Given the description of an element on the screen output the (x, y) to click on. 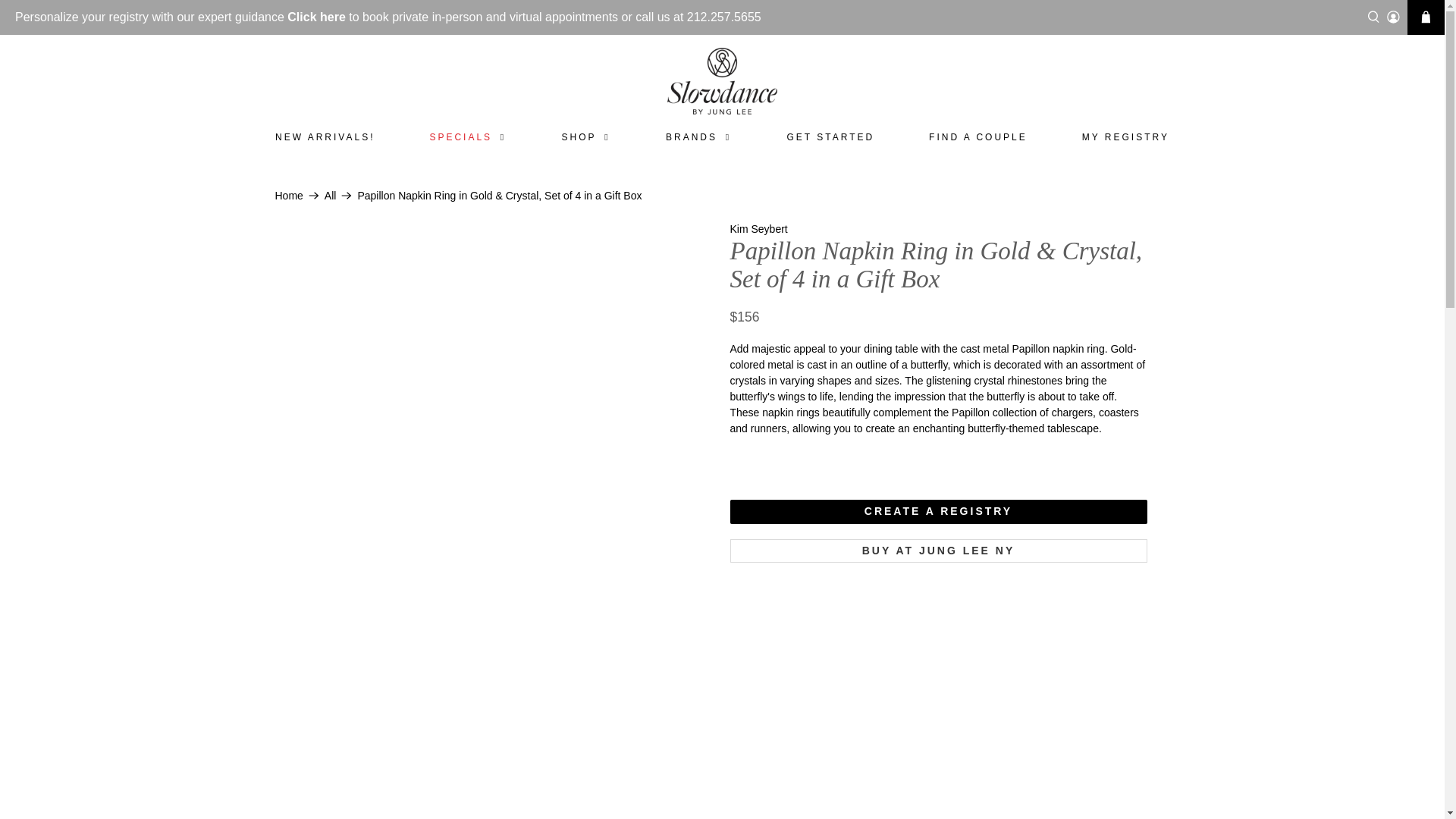
Kim Seybert (758, 228)
Slowdance (288, 195)
NEW ARRIVALS! (323, 136)
SHOP (586, 136)
SPECIALS (468, 136)
Click here (315, 16)
Slowdance (721, 79)
